Given the description of an element on the screen output the (x, y) to click on. 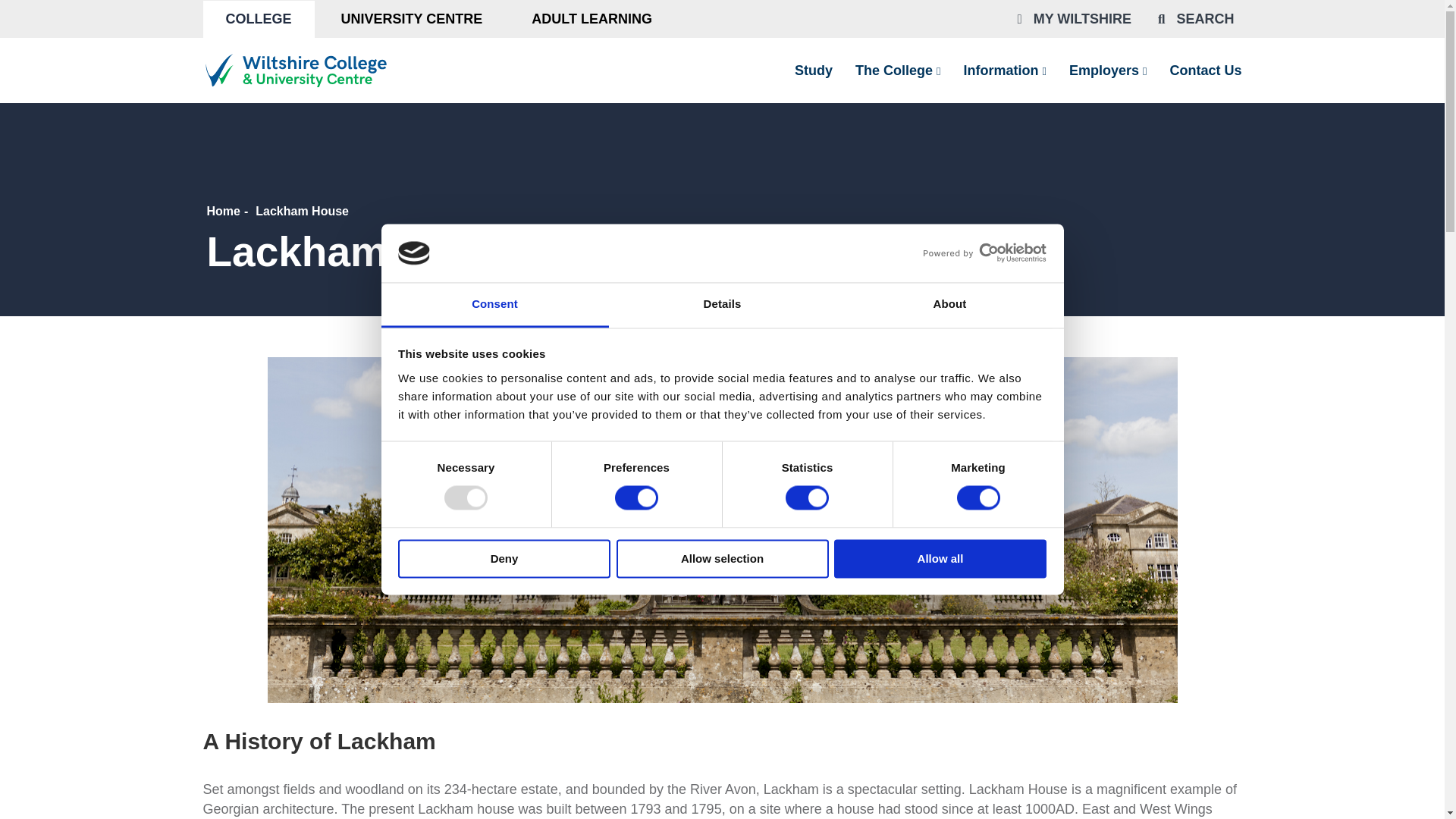
Details (721, 304)
Consent (494, 304)
About (948, 304)
